Given the description of an element on the screen output the (x, y) to click on. 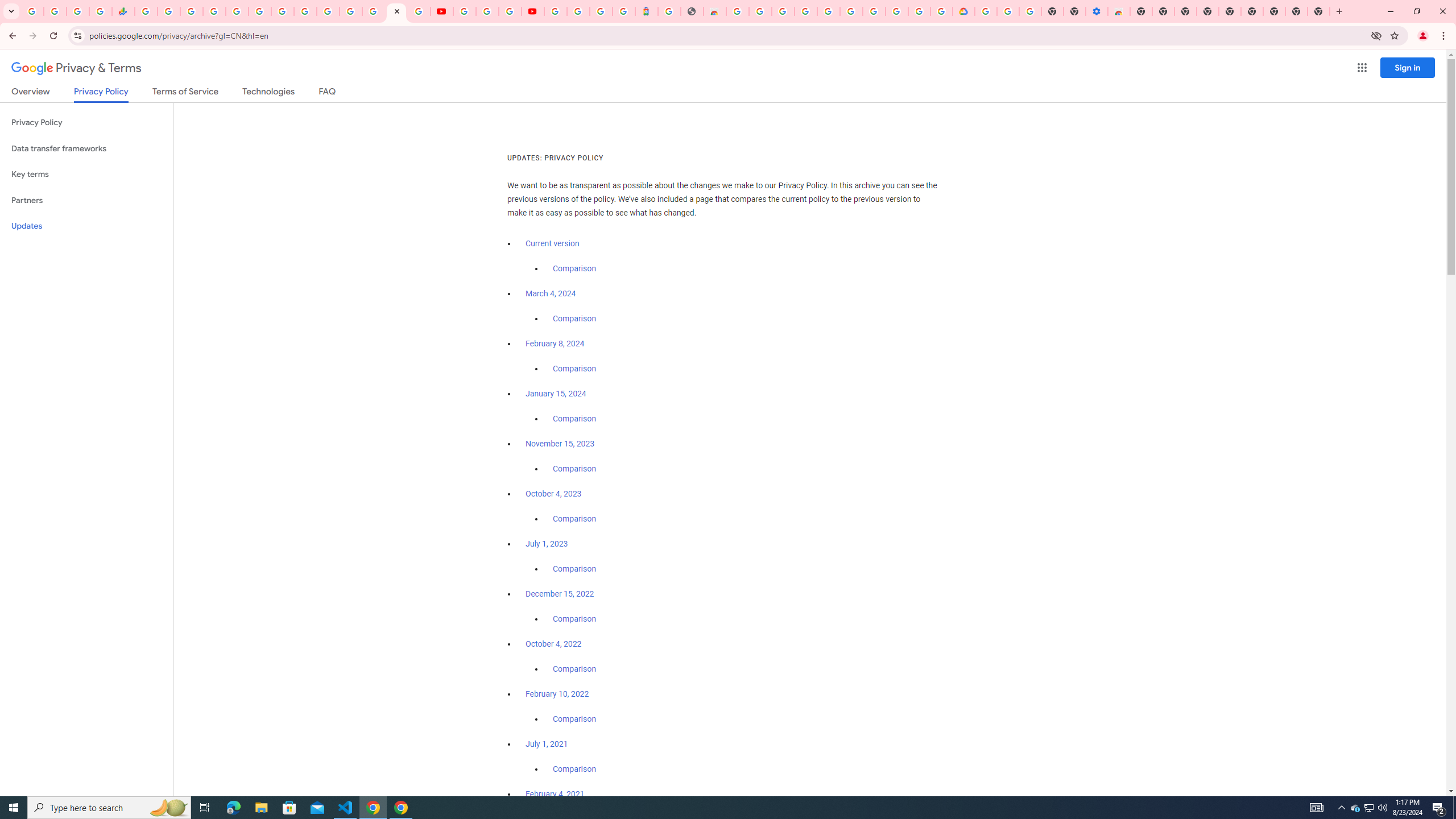
YouTube (464, 11)
Chrome Web Store - Accessibility extensions (1118, 11)
Turn cookies on or off - Computer - Google Account Help (1029, 11)
New Tab (1141, 11)
Sign in - Google Accounts (373, 11)
